Given the description of an element on the screen output the (x, y) to click on. 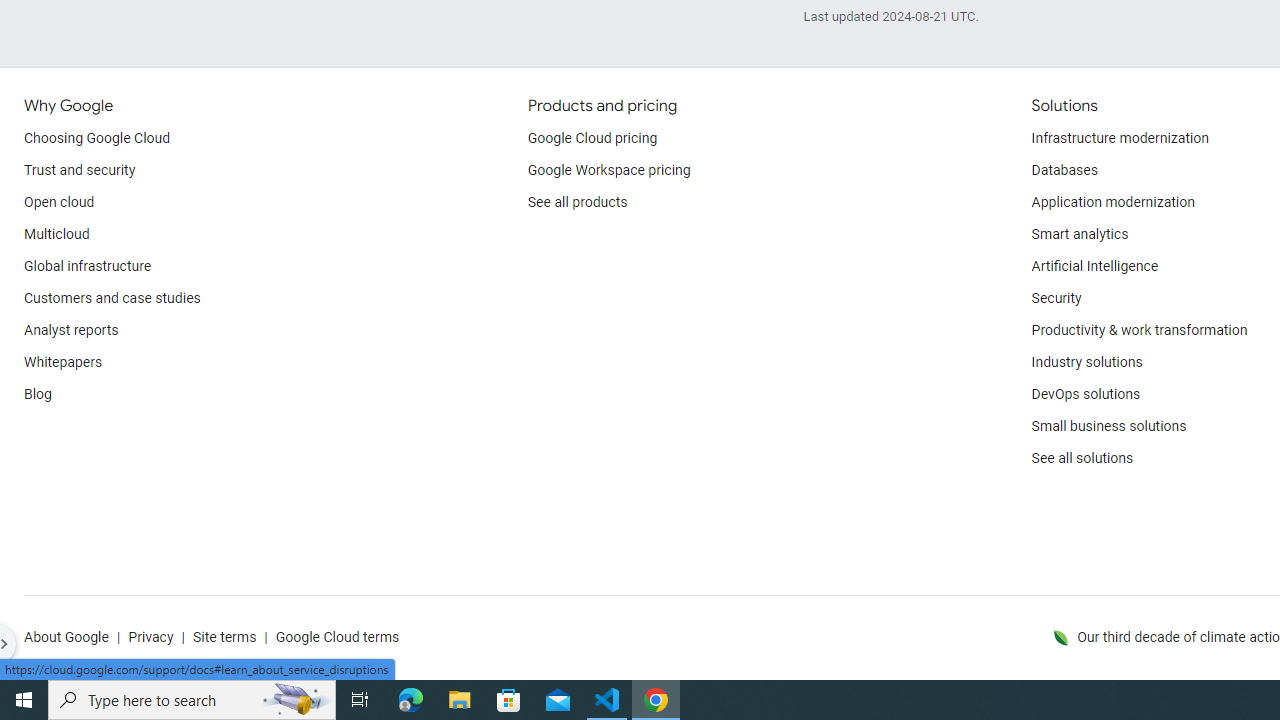
Databases (1064, 170)
Google Workspace pricing (609, 170)
Productivity & work transformation (1139, 331)
Open cloud (59, 202)
See all solutions (1082, 458)
Smart analytics (1079, 234)
Infrastructure modernization (1119, 138)
Site terms (224, 637)
About Google (66, 637)
Choosing Google Cloud (97, 138)
Trust and security (79, 170)
Customers and case studies (112, 298)
Whitepapers (63, 362)
Security (1055, 298)
